Given the description of an element on the screen output the (x, y) to click on. 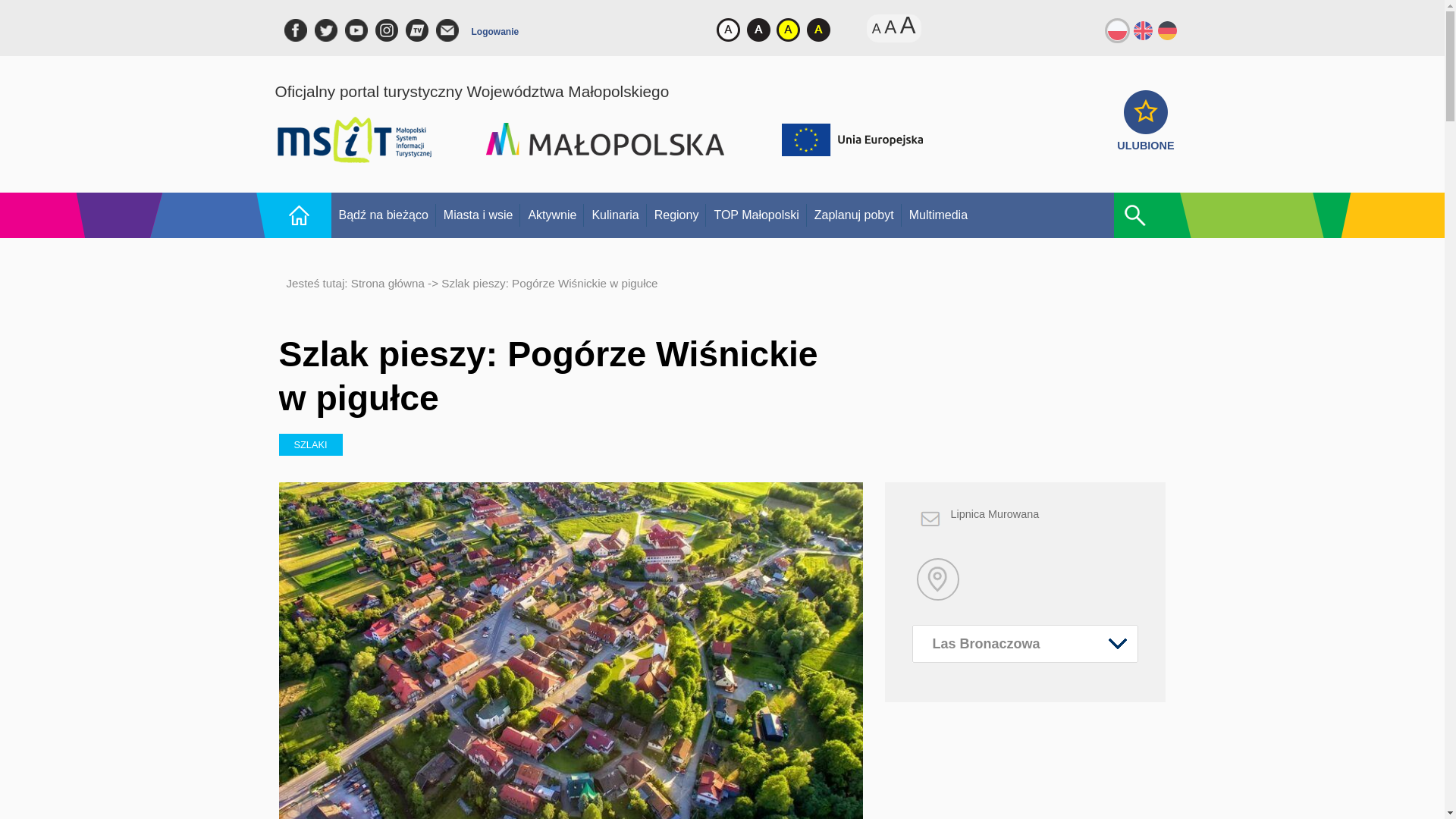
Aktywnie (551, 215)
Logowanie (495, 35)
English (1142, 29)
Deutsch (1167, 29)
Miasta i wsie (478, 215)
ULUBIONE (1144, 138)
Kulinaria (614, 215)
